Given the description of an element on the screen output the (x, y) to click on. 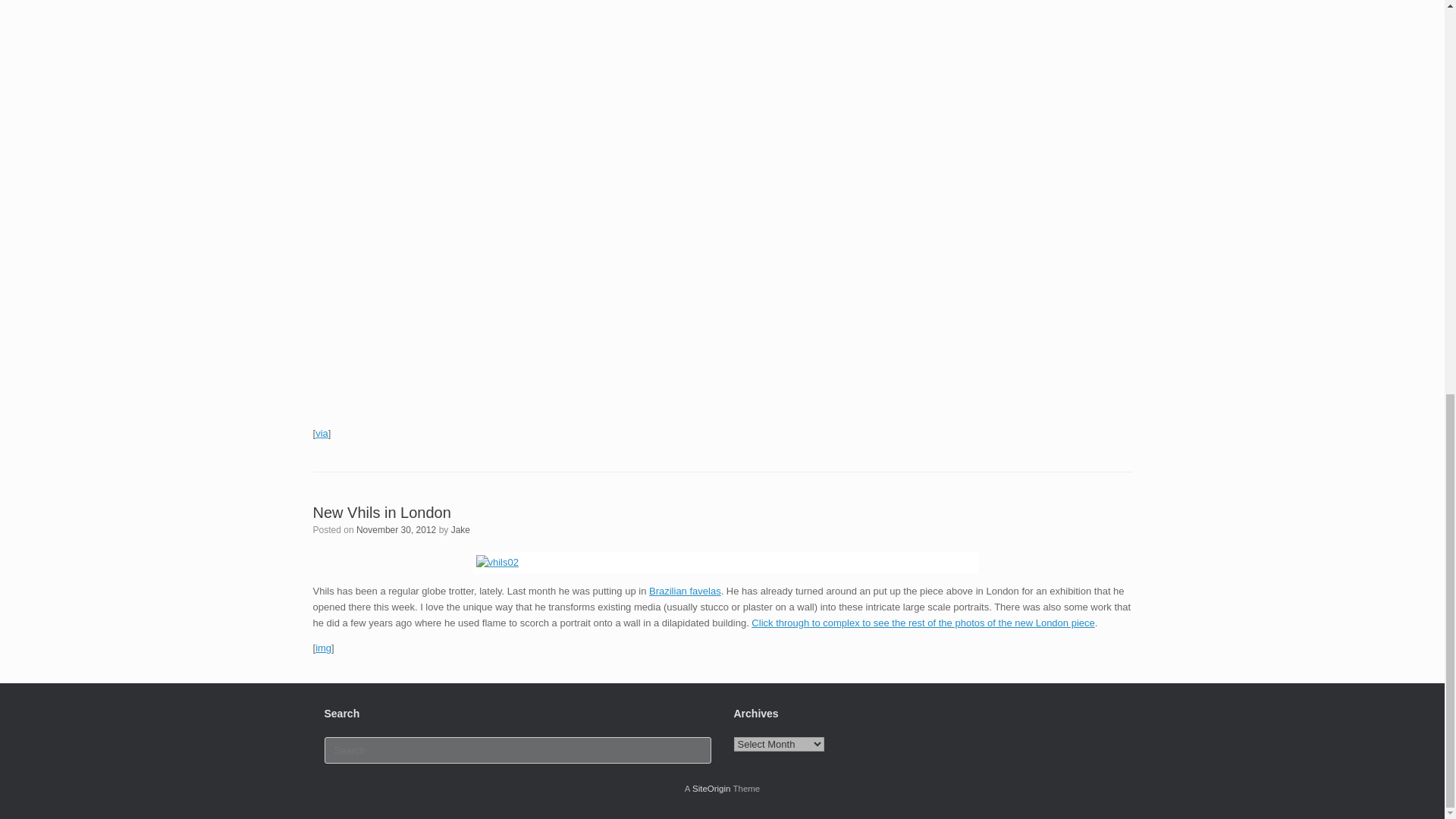
SiteOrigin (711, 788)
10:32 am (395, 529)
View all posts by Jake (460, 529)
Permalink to New Vhils in London (381, 512)
Brazilian favelas (684, 591)
November 30, 2012 (395, 529)
img (323, 647)
New Vhils in London (381, 512)
Jake (460, 529)
